Given the description of an element on the screen output the (x, y) to click on. 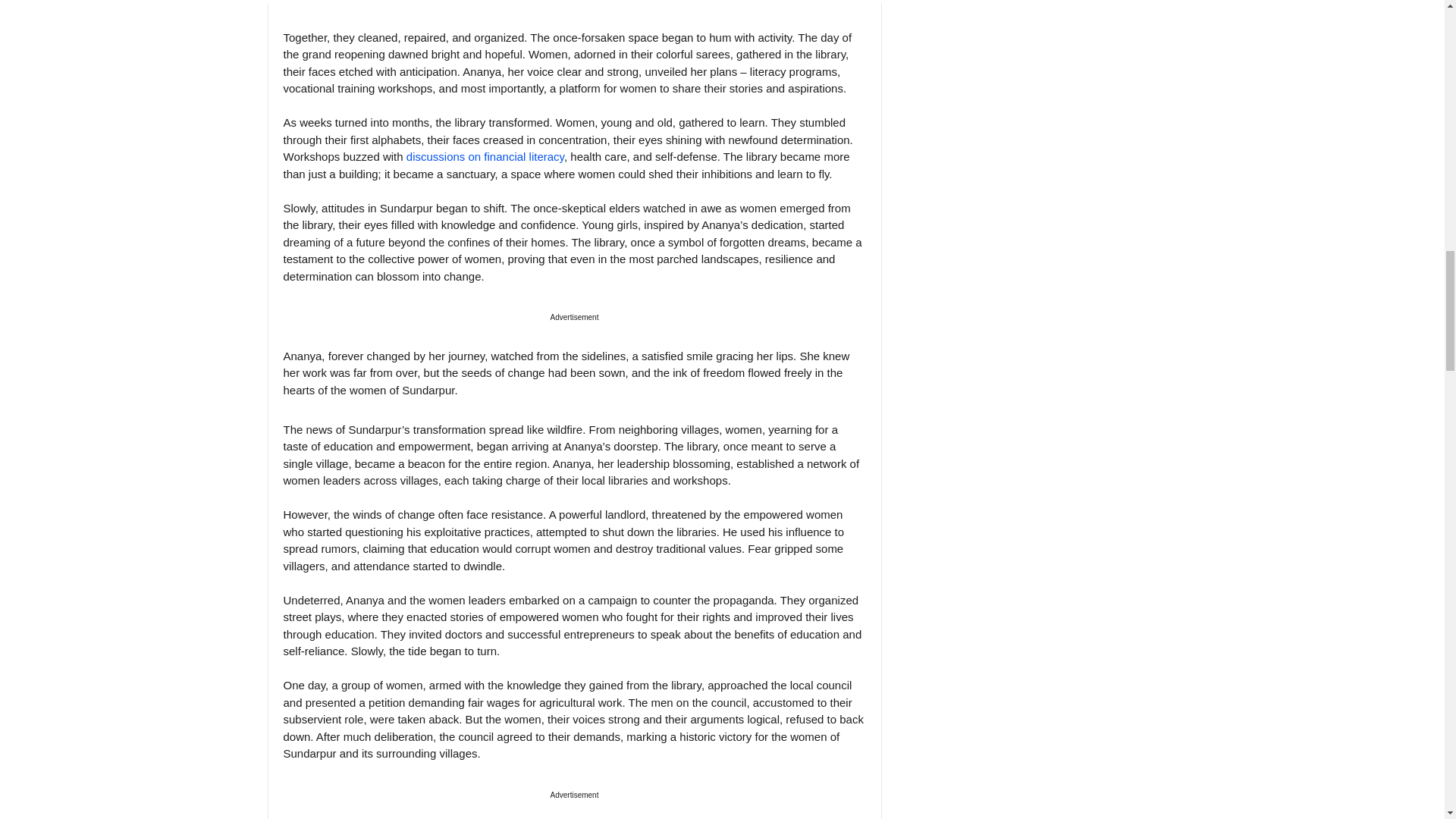
discussions on financial literacy (485, 155)
